Given the description of an element on the screen output the (x, y) to click on. 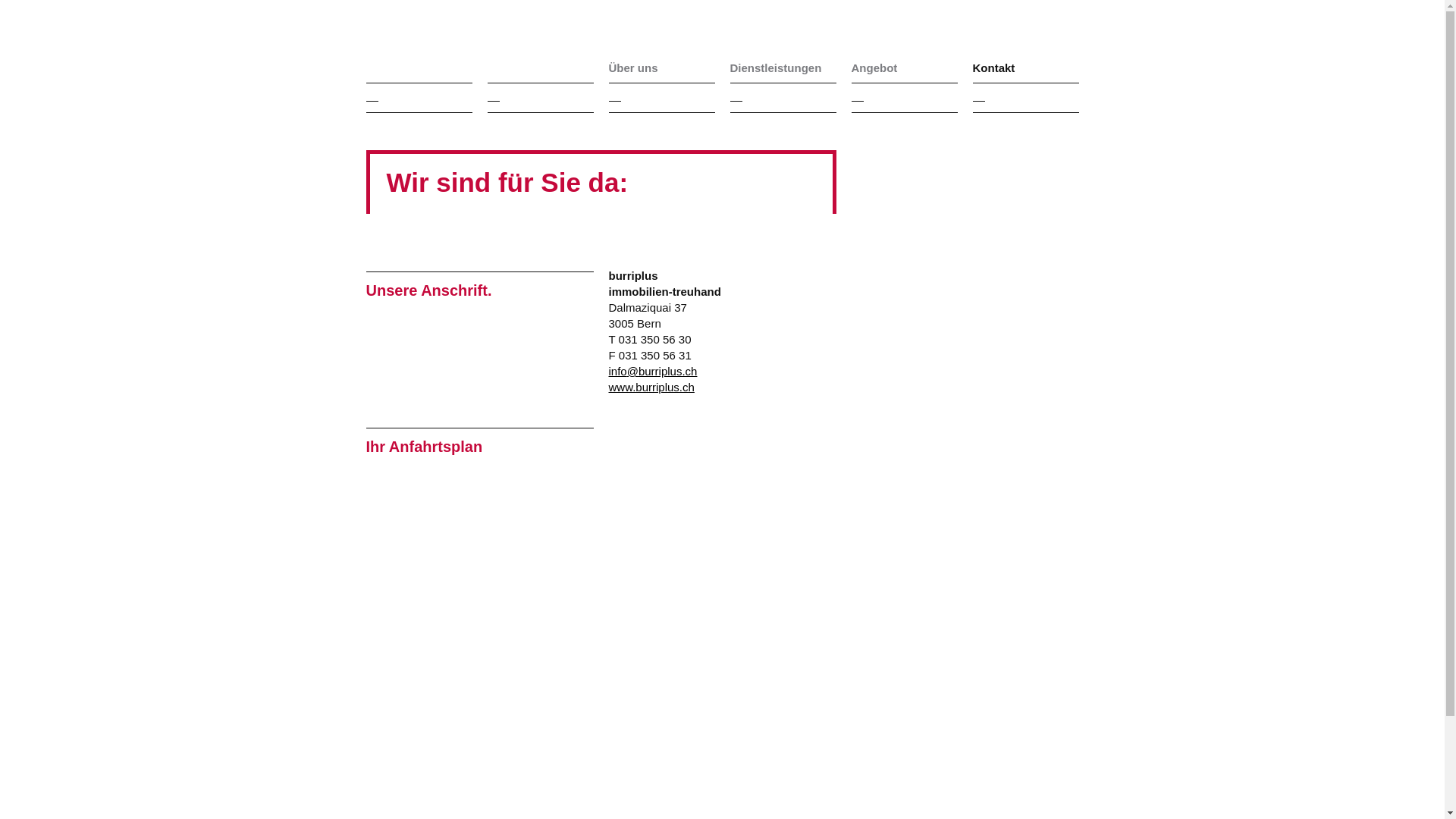
Angebot Element type: text (903, 67)
Dienstleistungen Element type: text (782, 67)
www.burriplus.ch Element type: text (650, 386)
info@burriplus.ch Element type: text (652, 370)
home Element type: hover (447, 48)
Kontakt Element type: text (1025, 67)
  Element type: text (447, 48)
